Given the description of an element on the screen output the (x, y) to click on. 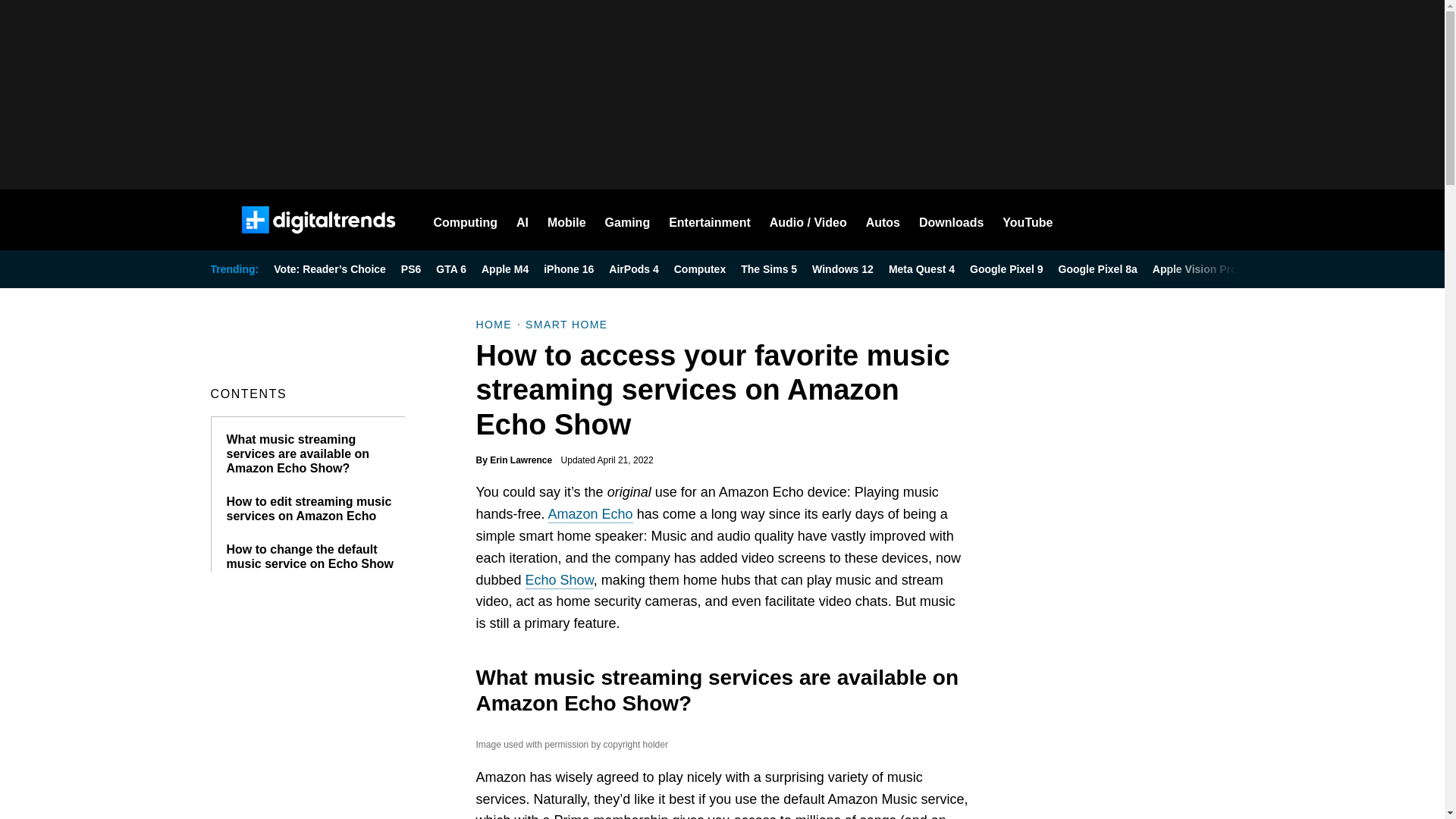
Computing (465, 219)
Downloads (951, 219)
Entertainment (709, 219)
